Given the description of an element on the screen output the (x, y) to click on. 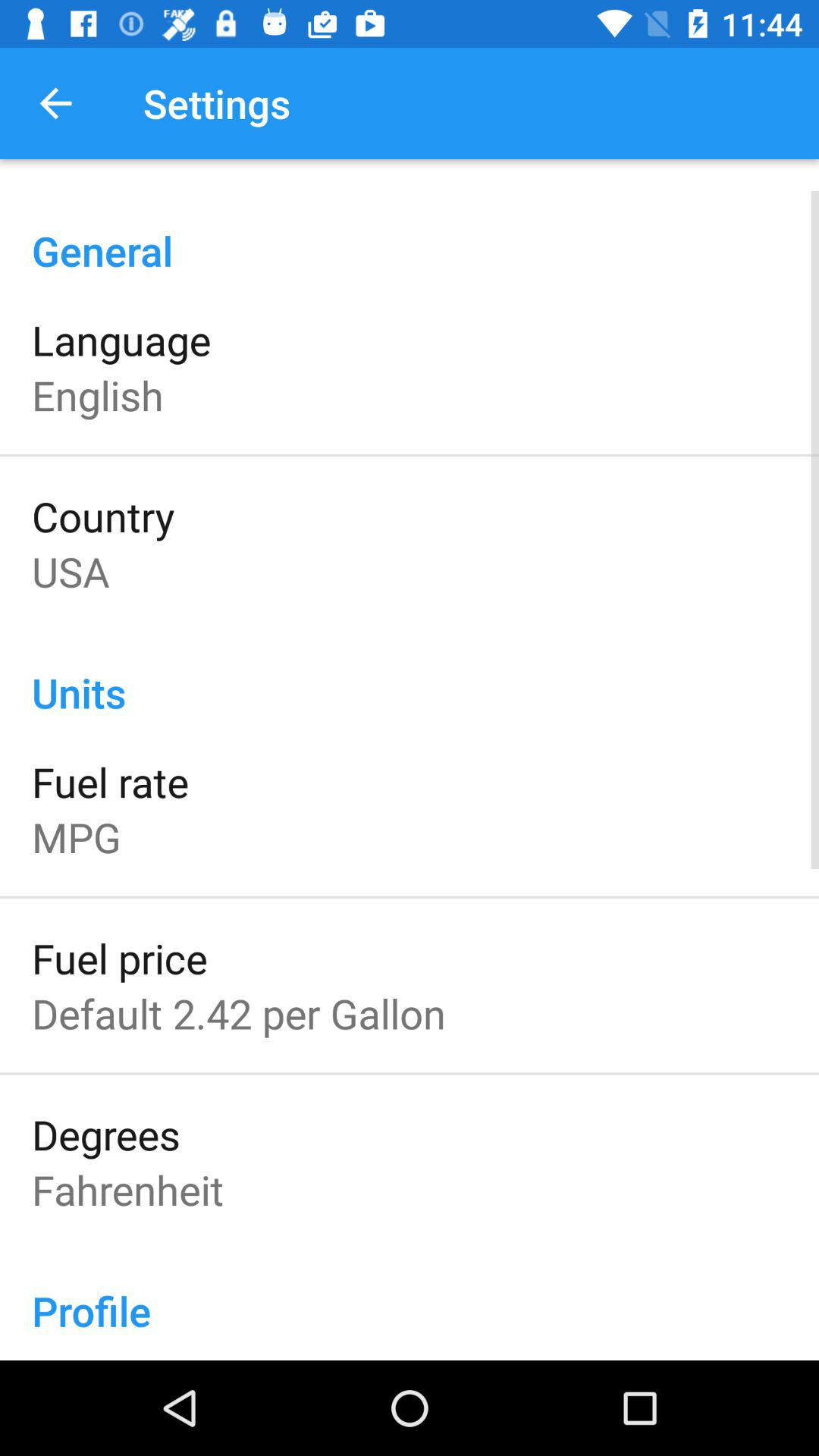
swipe until the profile icon (409, 1294)
